Given the description of an element on the screen output the (x, y) to click on. 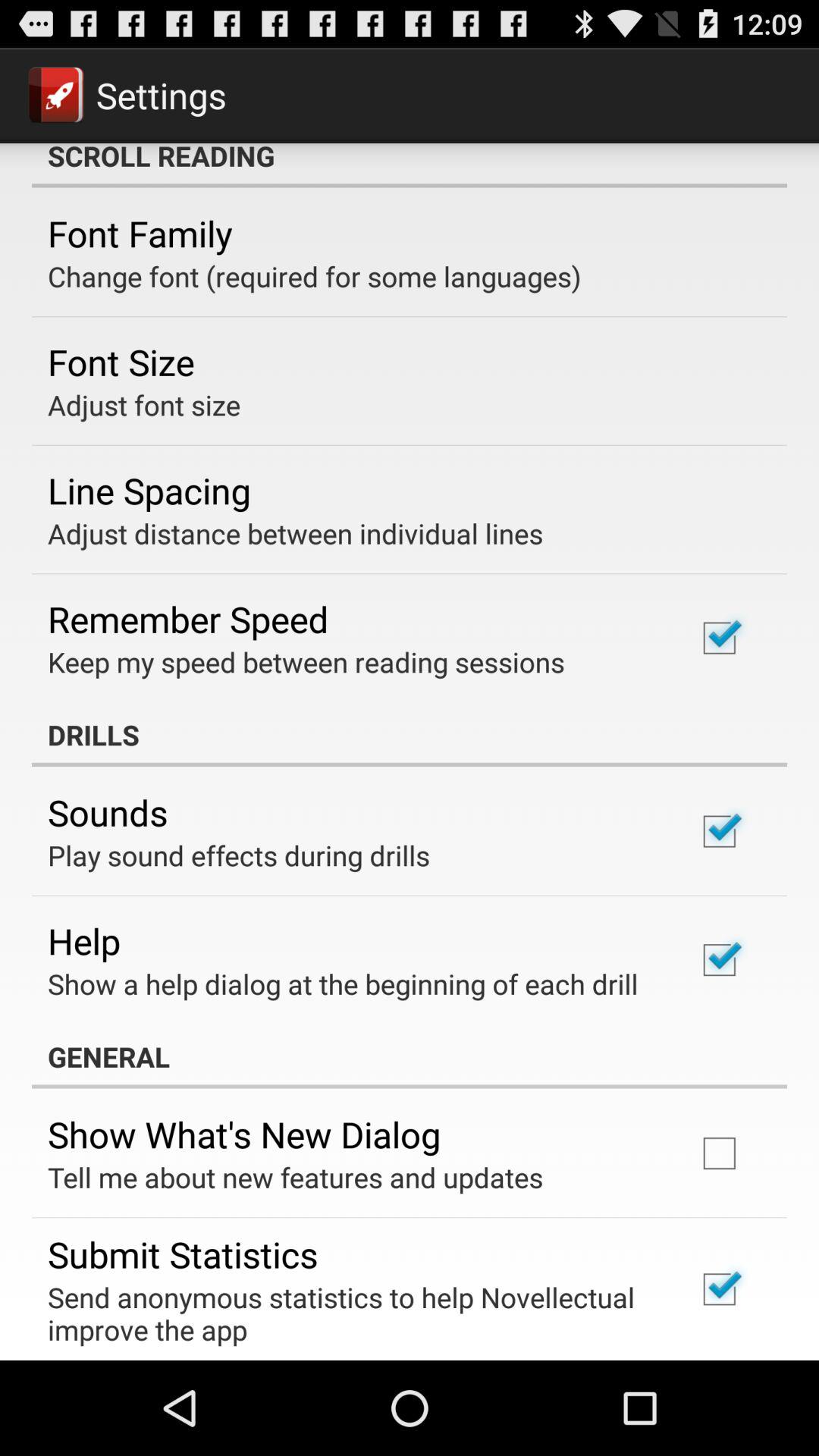
launch app below adjust distance between item (187, 618)
